Given the description of an element on the screen output the (x, y) to click on. 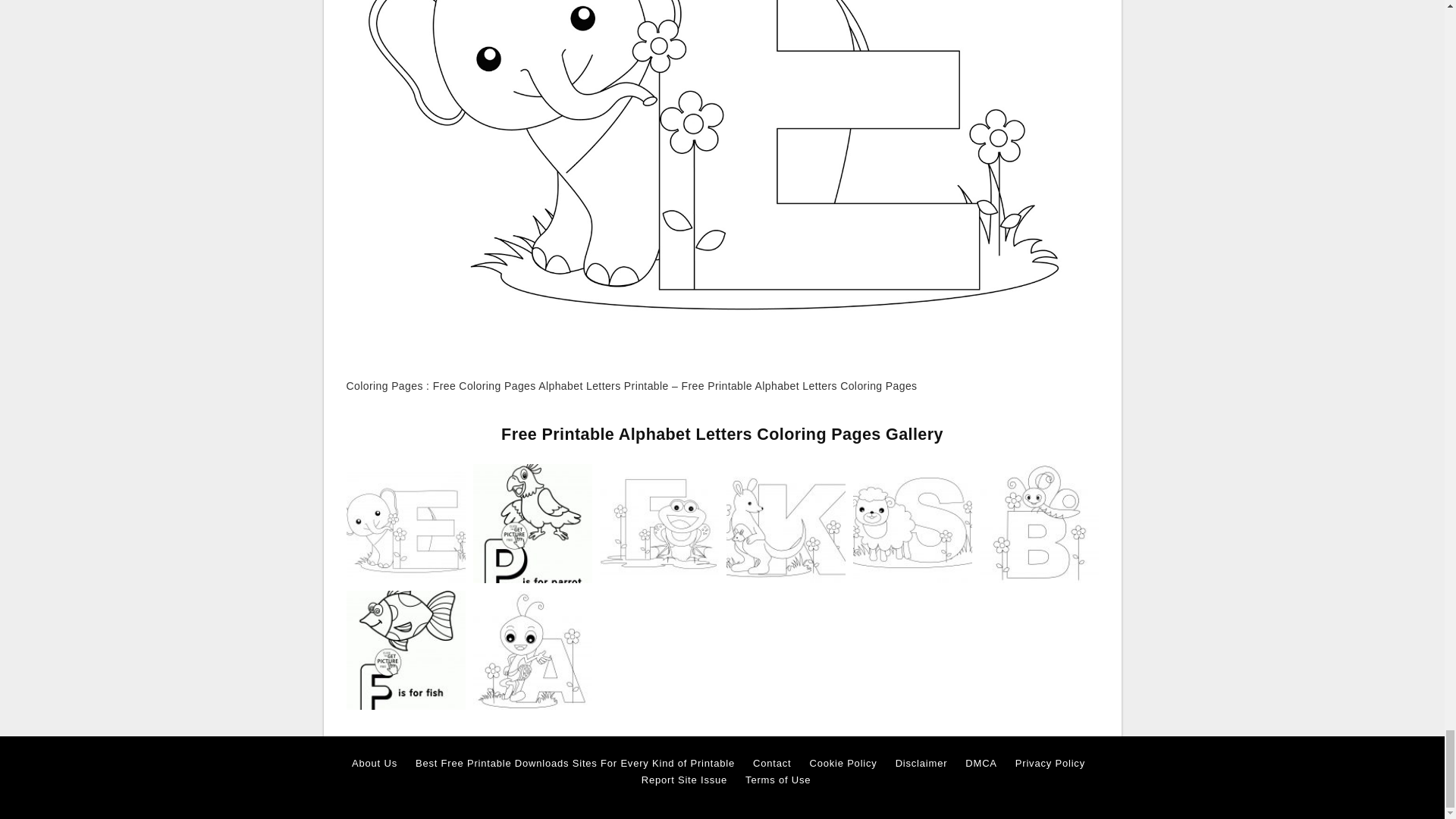
Contact (771, 763)
Report Site Issue (684, 780)
Disclaimer (921, 763)
Terms of Use (777, 780)
About Us (374, 763)
Privacy Policy (1049, 763)
DMCA (980, 763)
Cookie Policy (842, 763)
